Given the description of an element on the screen output the (x, y) to click on. 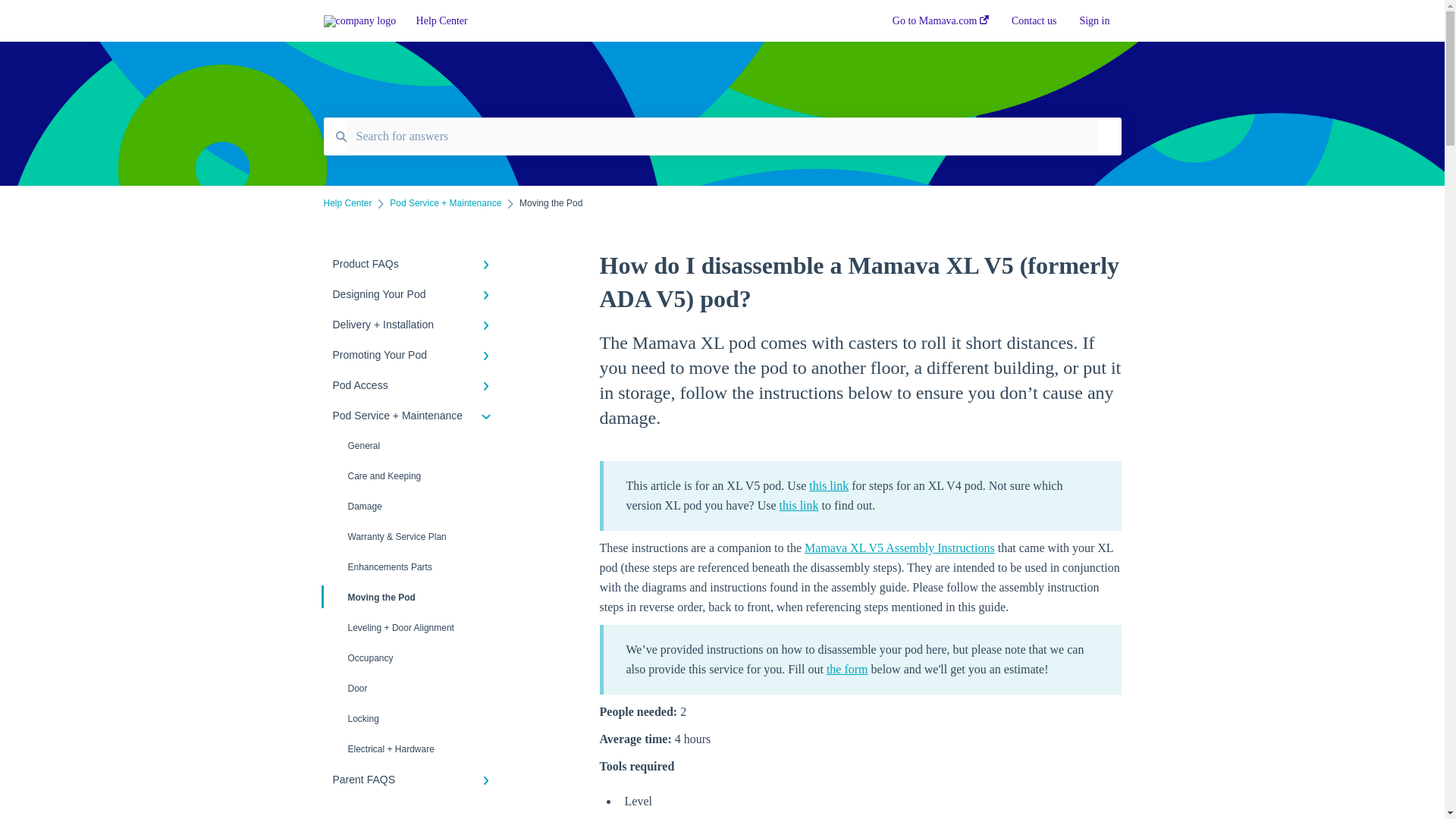
Sign in (1093, 25)
Go to Mamava.com (940, 25)
Contact us (1034, 25)
Help Center (631, 21)
